Given the description of an element on the screen output the (x, y) to click on. 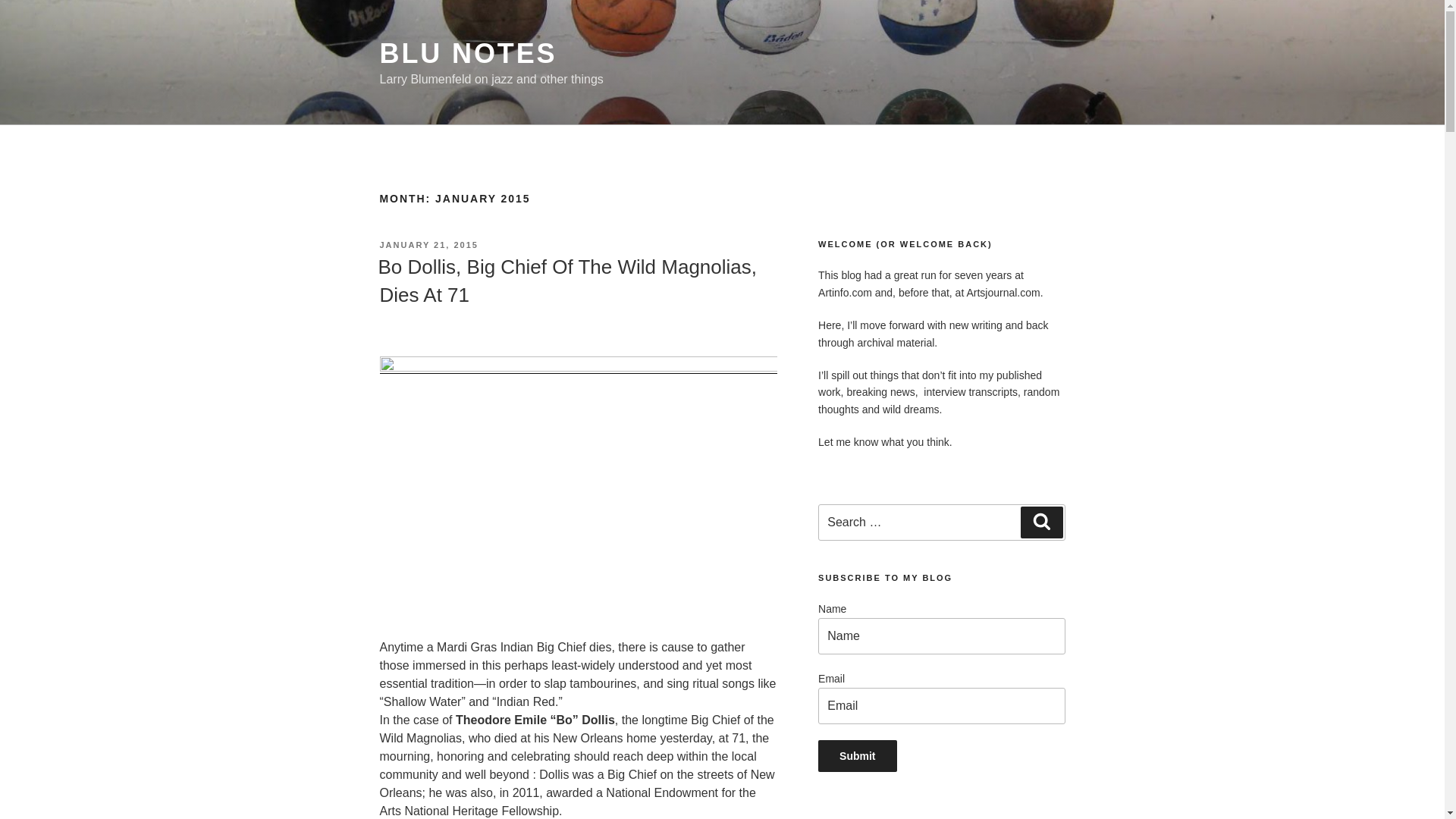
Submit (857, 756)
Submit (857, 756)
BLU NOTES (467, 52)
Search (1041, 522)
JANUARY 21, 2015 (427, 244)
Bo Dollis, Big Chief Of The Wild Magnolias, Dies At 71 (567, 280)
